Given the description of an element on the screen output the (x, y) to click on. 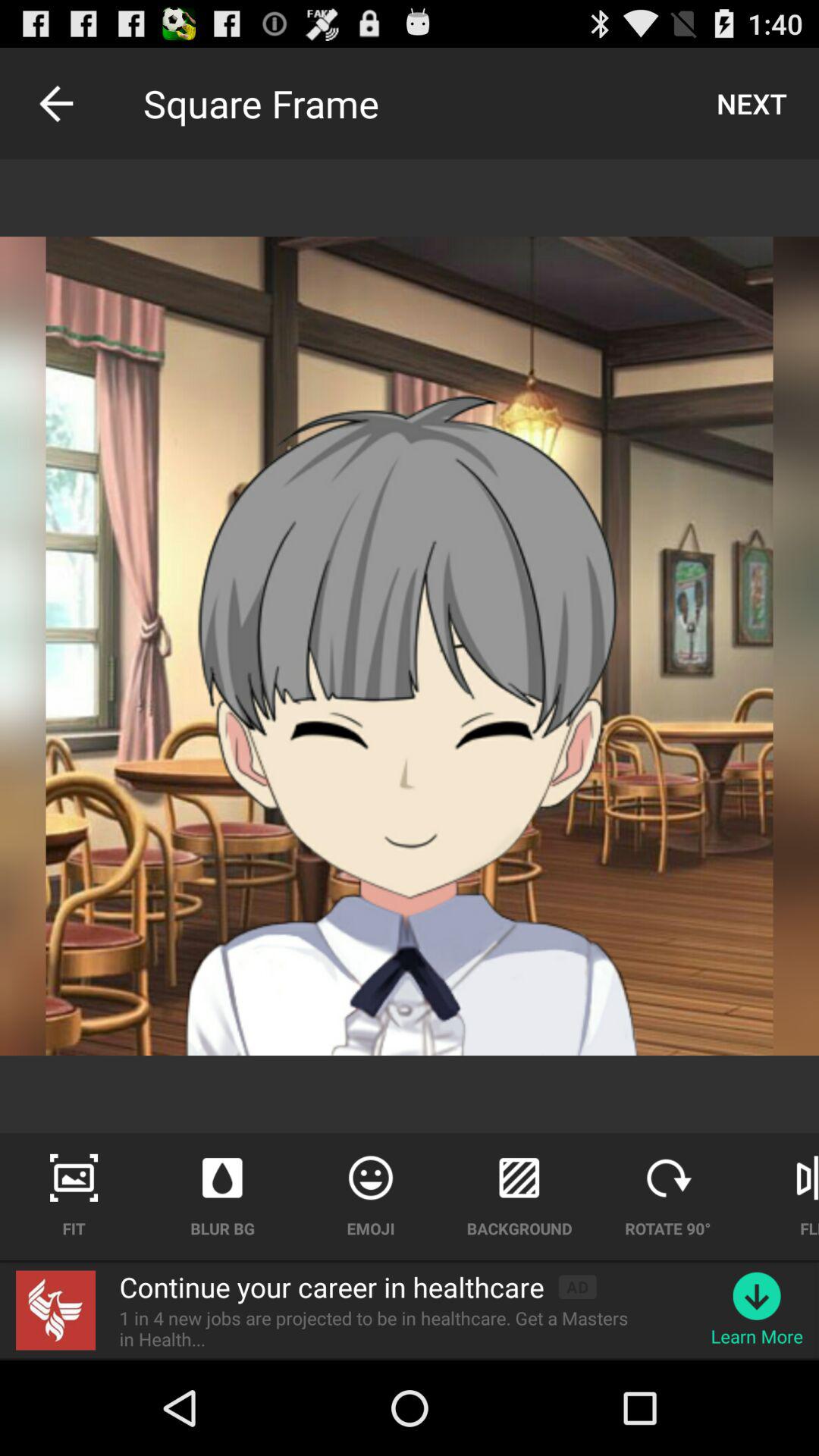
turn off item next to square frame icon (55, 103)
